Given the description of an element on the screen output the (x, y) to click on. 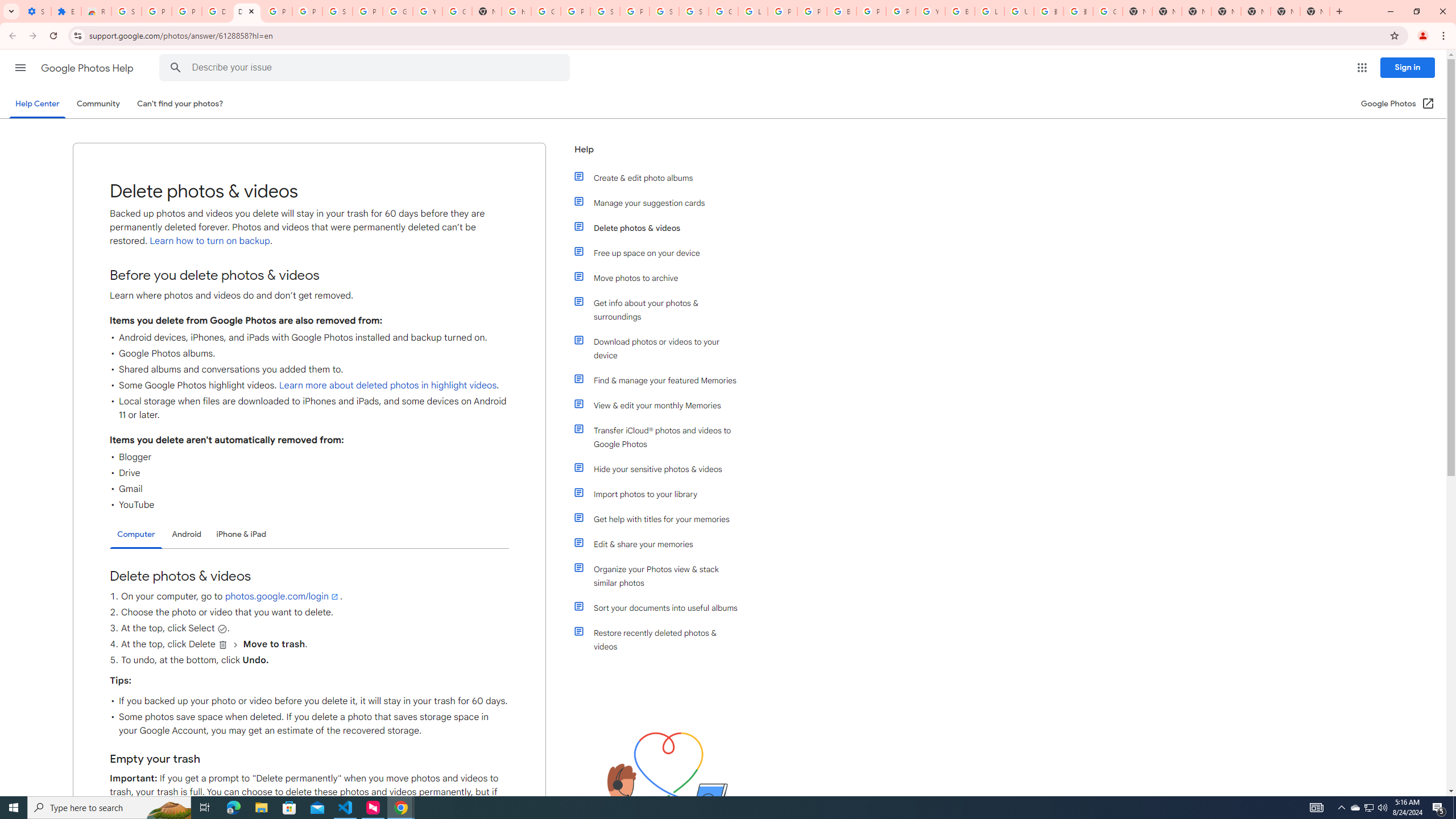
Delete photos & videos - Computer - Google Photos Help (247, 11)
https://scholar.google.com/ (515, 11)
Community (97, 103)
Manage your suggestion cards (661, 202)
Select (221, 628)
photos.google.com/login (282, 596)
Google Images (1107, 11)
Android (186, 533)
Reviews: Helix Fruit Jump Arcade Game (95, 11)
